Given the description of an element on the screen output the (x, y) to click on. 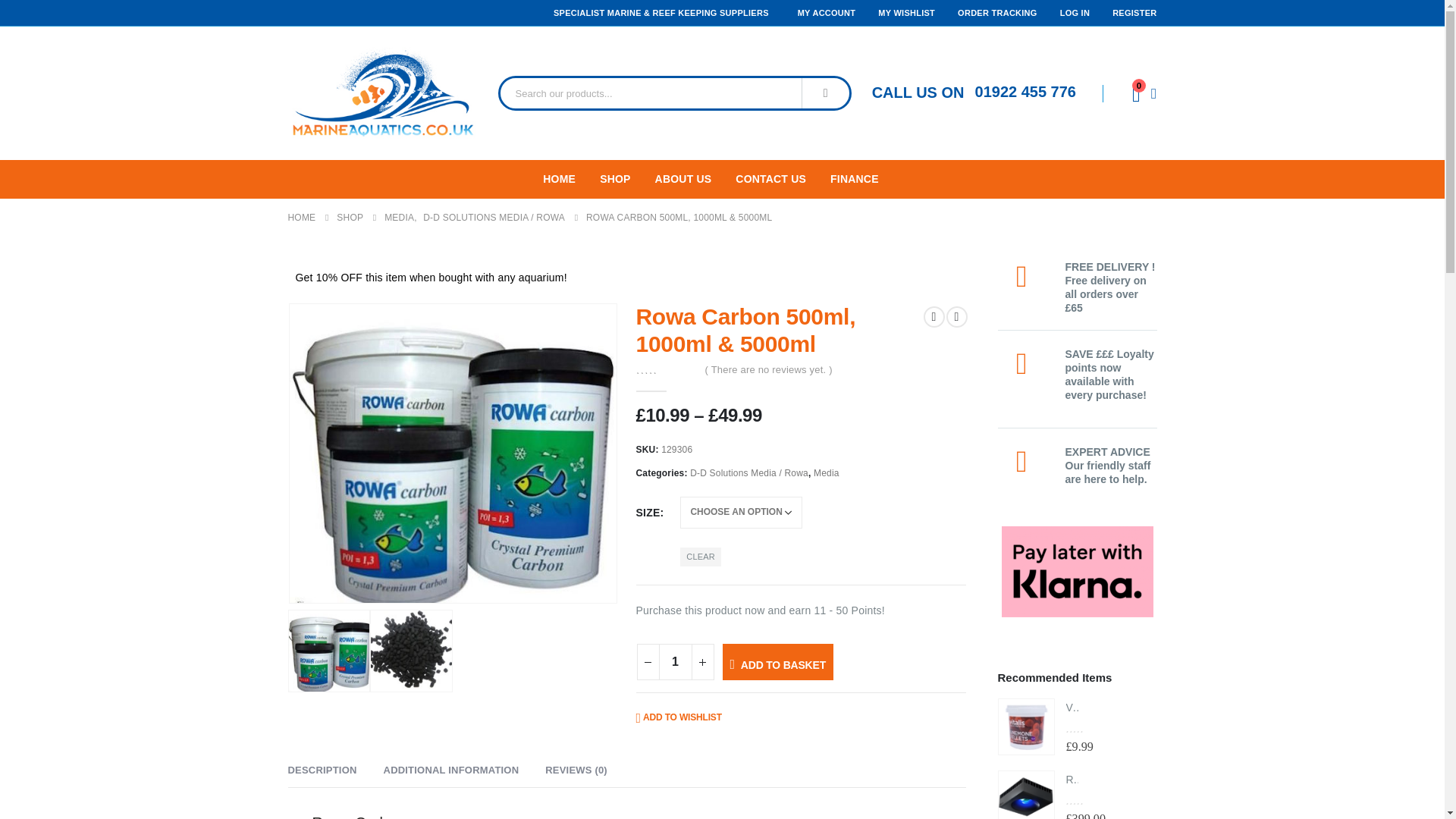
Vitalis Anemone Pellet Feed (1025, 726)
SHOP (349, 218)
CONTACT US (781, 179)
HOME (570, 179)
ADD TO BASKET (777, 661)
Media (826, 473)
LOG IN (1074, 12)
images (411, 650)
images (328, 650)
ABOUT US (695, 179)
Go to Home Page (301, 218)
SHOP (625, 179)
MY ACCOUNT (826, 12)
images (452, 452)
